Given the description of an element on the screen output the (x, y) to click on. 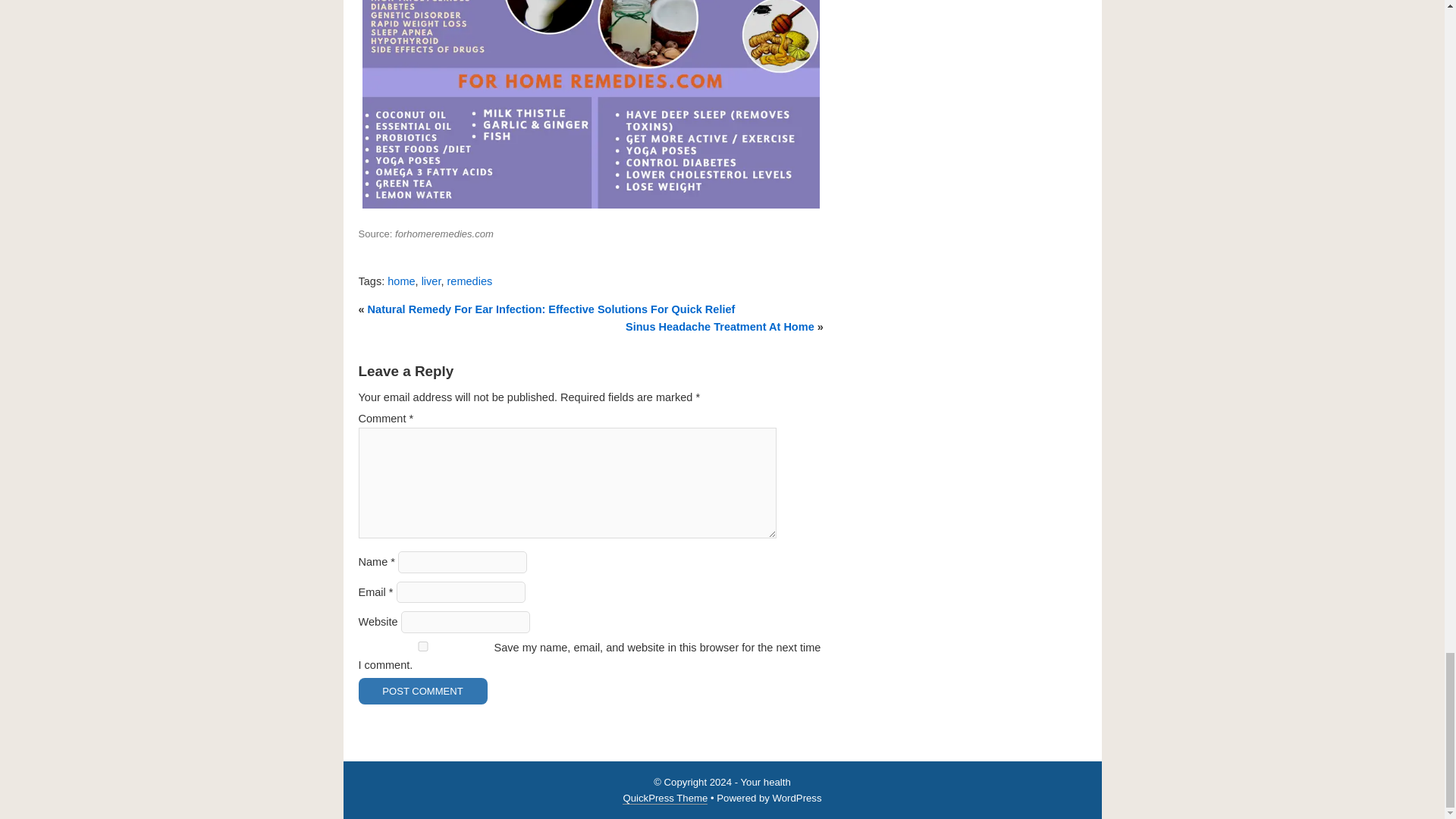
yes (422, 646)
liver (431, 281)
QuickPress Theme (665, 798)
Post Comment (422, 691)
Post Comment (422, 691)
Sinus Headache Treatment At Home (719, 326)
home (400, 281)
remedies (469, 281)
Home Remedies For Fatty Liver 10 (590, 106)
